Given the description of an element on the screen output the (x, y) to click on. 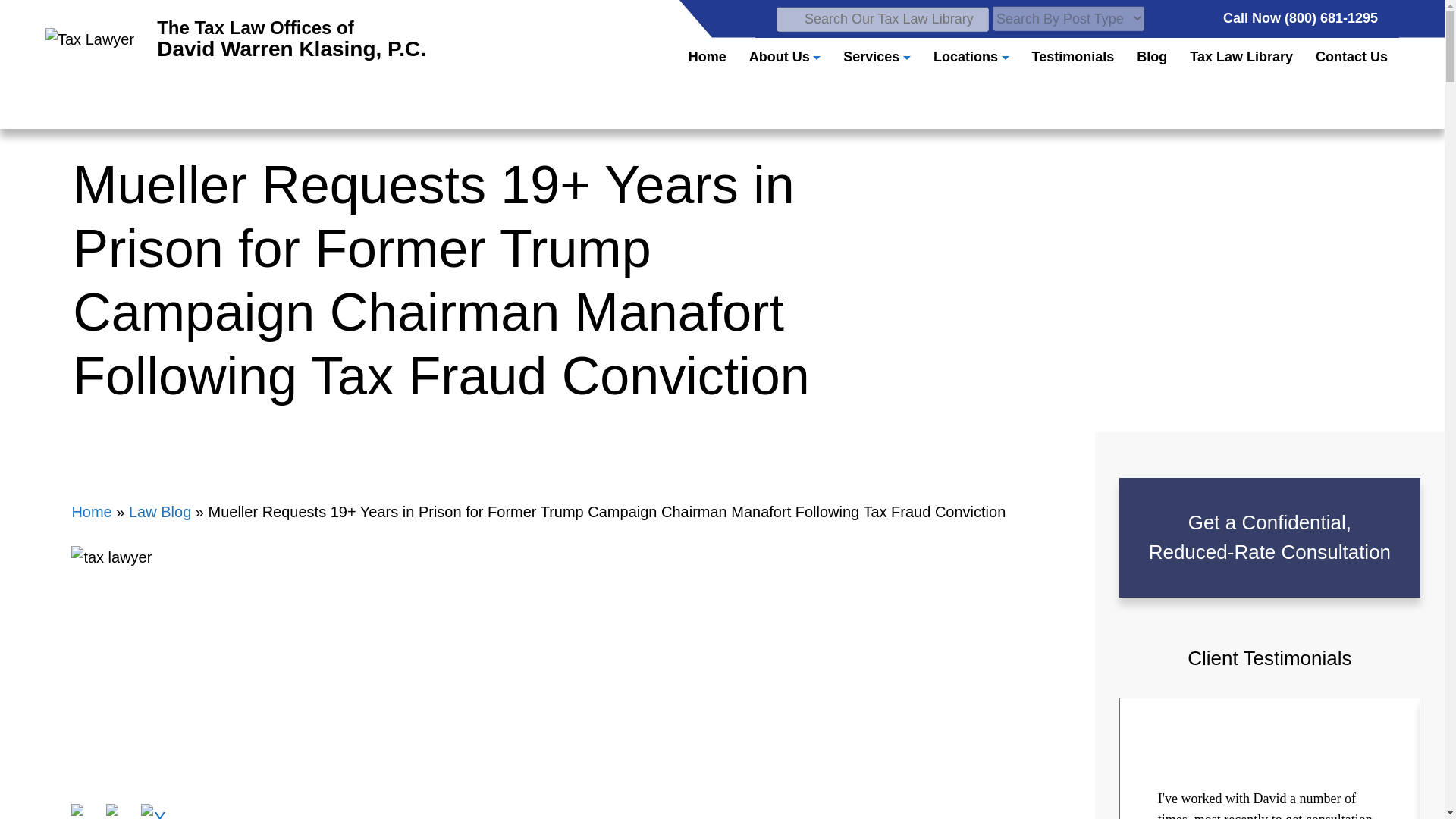
Search for: (882, 18)
Services (235, 39)
Facebook (877, 55)
About Us (121, 811)
Follow by Email (785, 55)
Home (86, 811)
